Given the description of an element on the screen output the (x, y) to click on. 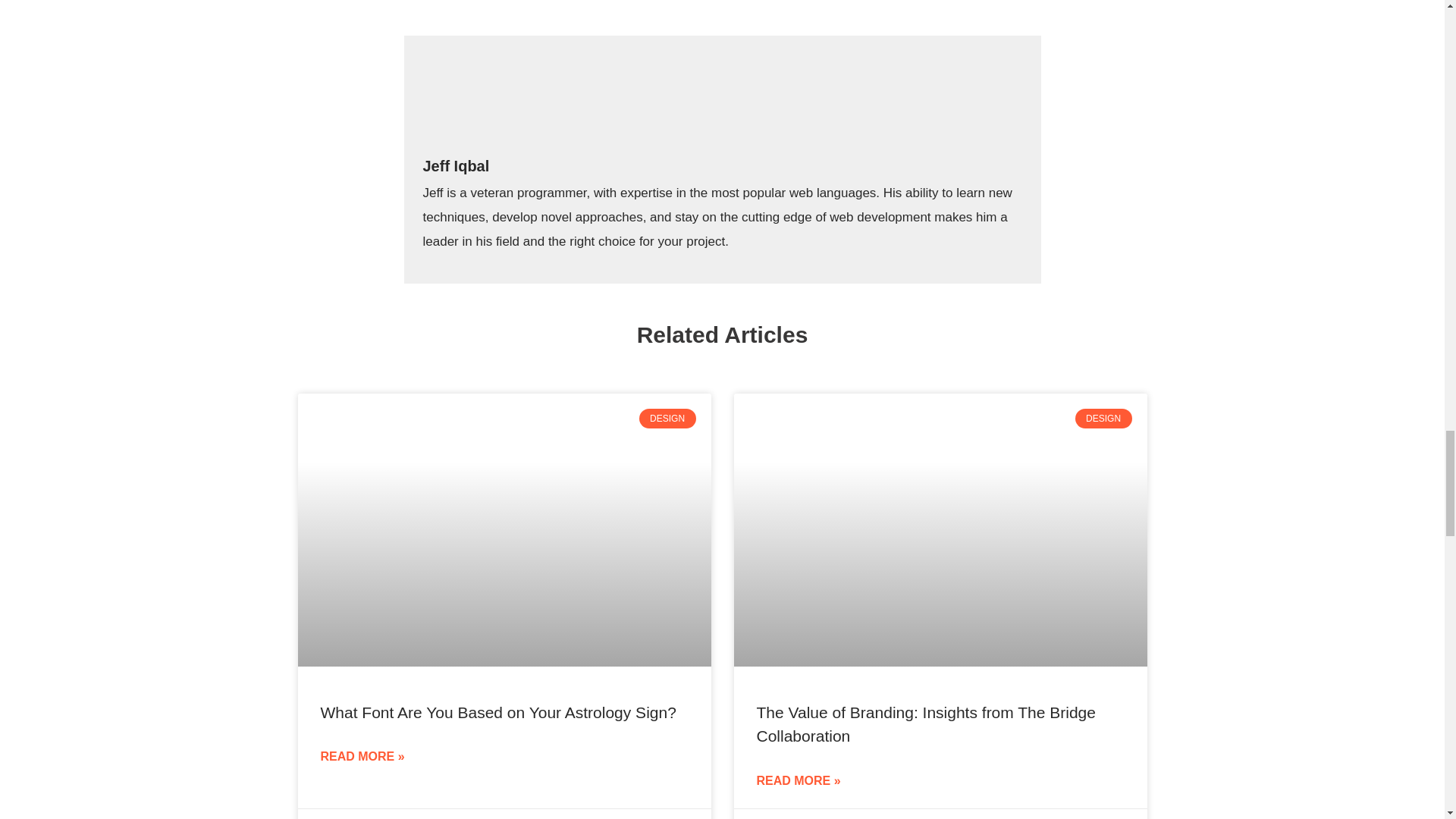
What Font Are You Based on Your Astrology Sign? (497, 712)
